Given the description of an element on the screen output the (x, y) to click on. 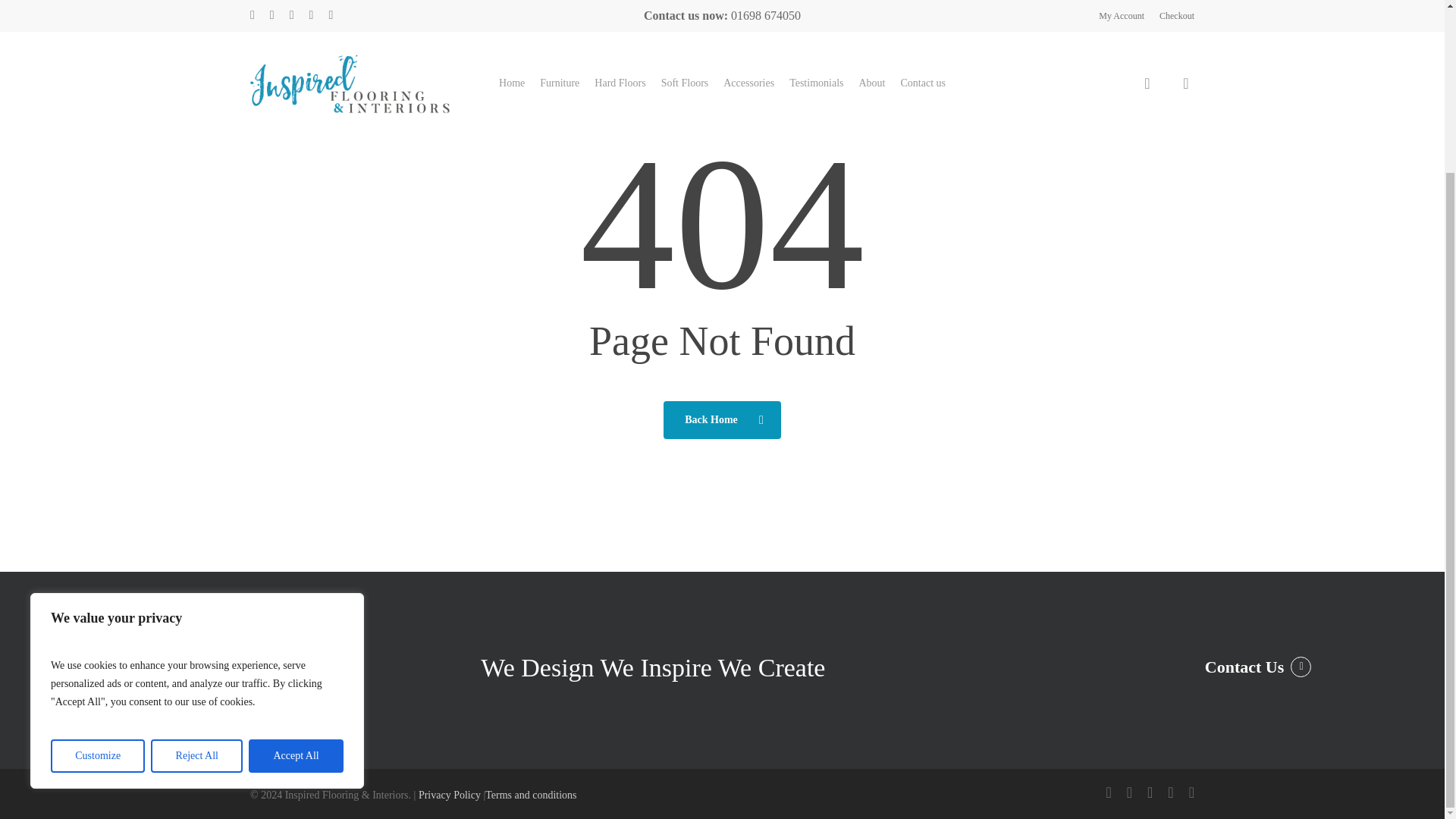
Reject All (197, 547)
Accept All (295, 547)
Customize (97, 547)
